Given the description of an element on the screen output the (x, y) to click on. 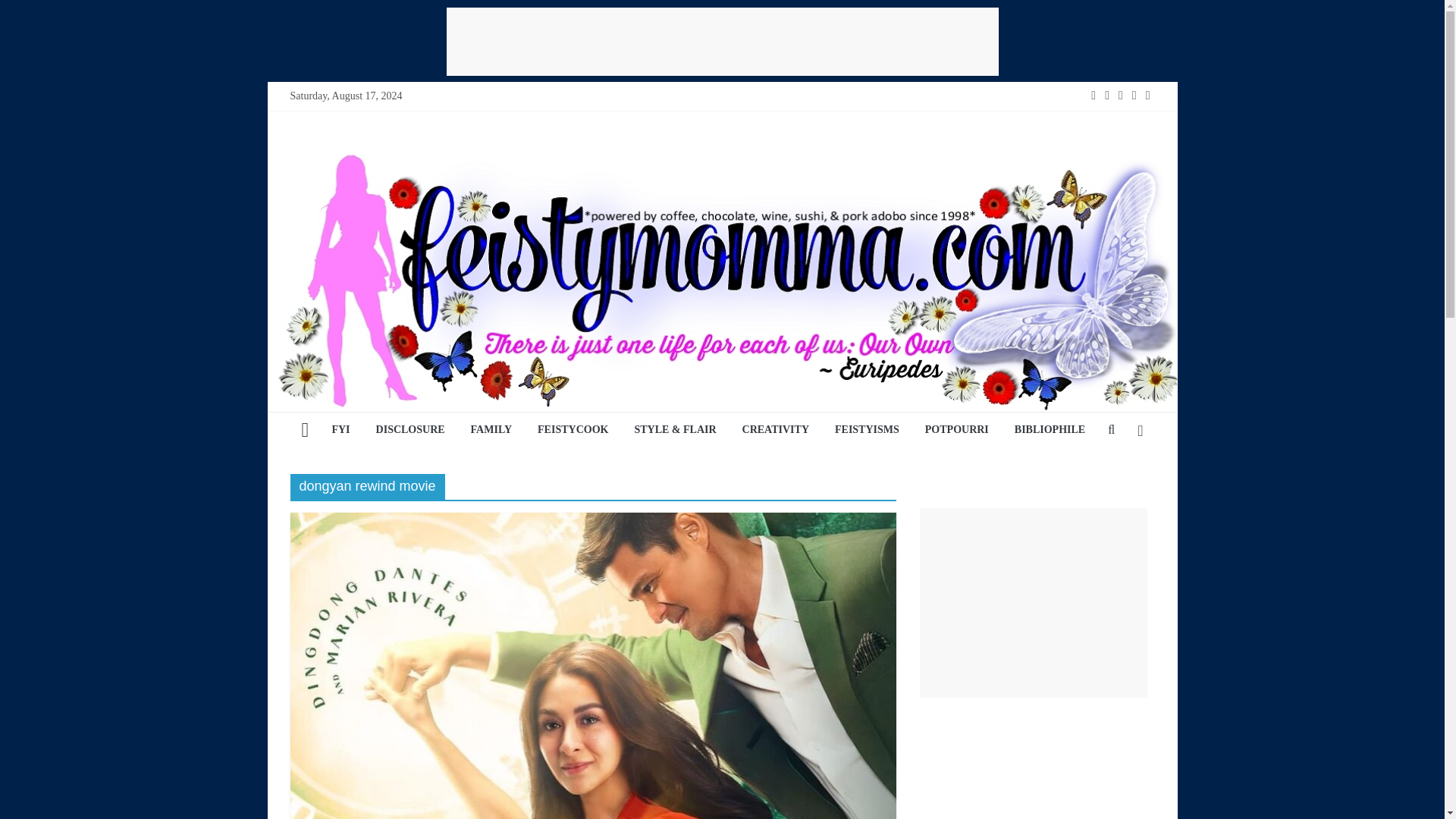
FYI (340, 430)
DISCLOSURE (411, 430)
FAMILY (491, 430)
POTPOURRI (957, 430)
CREATIVITY (775, 430)
FEISTYISMS (867, 430)
FEISTYCOOK (572, 430)
BIBLIOPHILE (1049, 430)
